Given the description of an element on the screen output the (x, y) to click on. 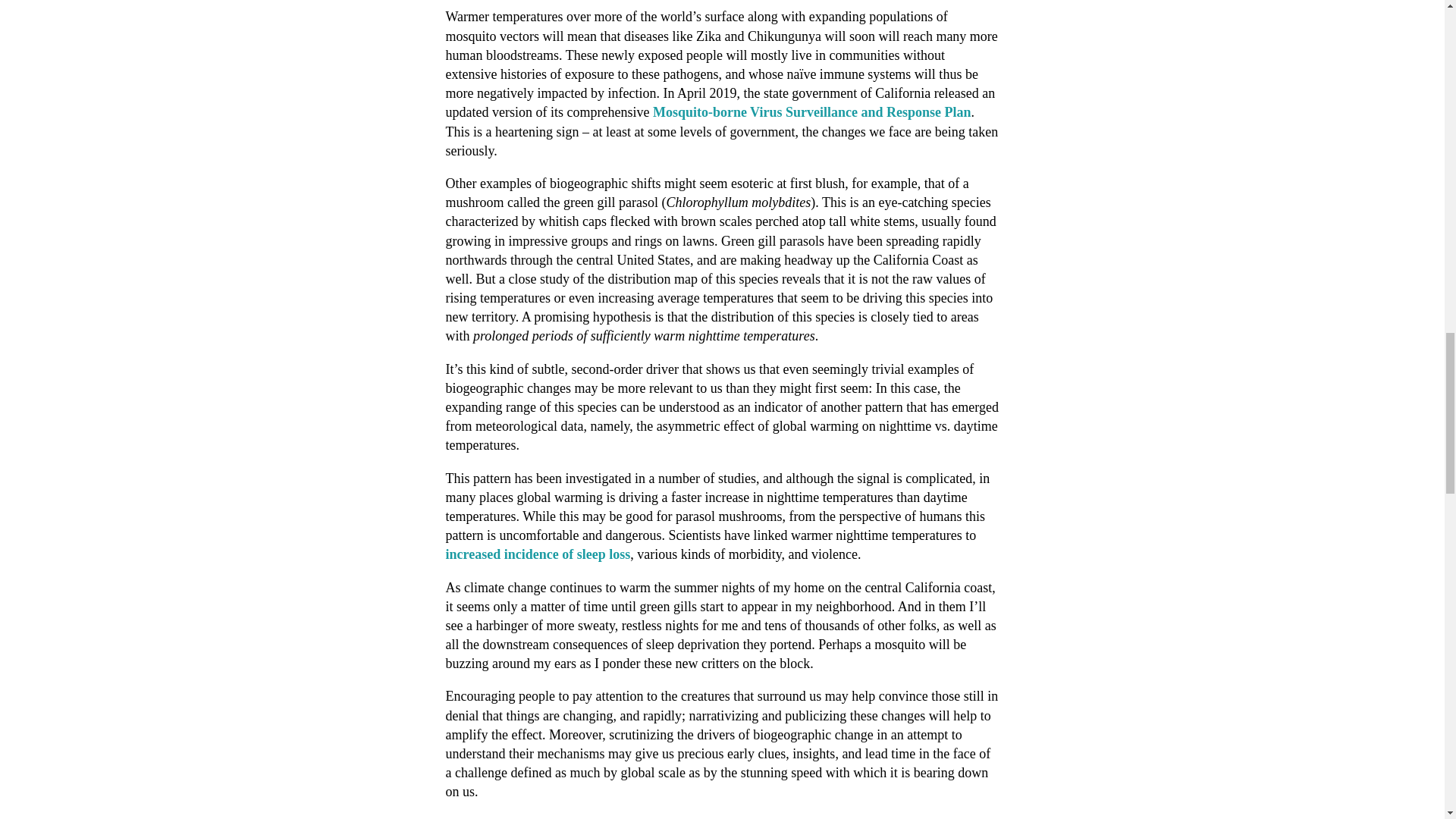
increased incidence of sleep loss (537, 554)
Mosquito-borne Virus Surveillance and Response Plan (811, 111)
